Given the description of an element on the screen output the (x, y) to click on. 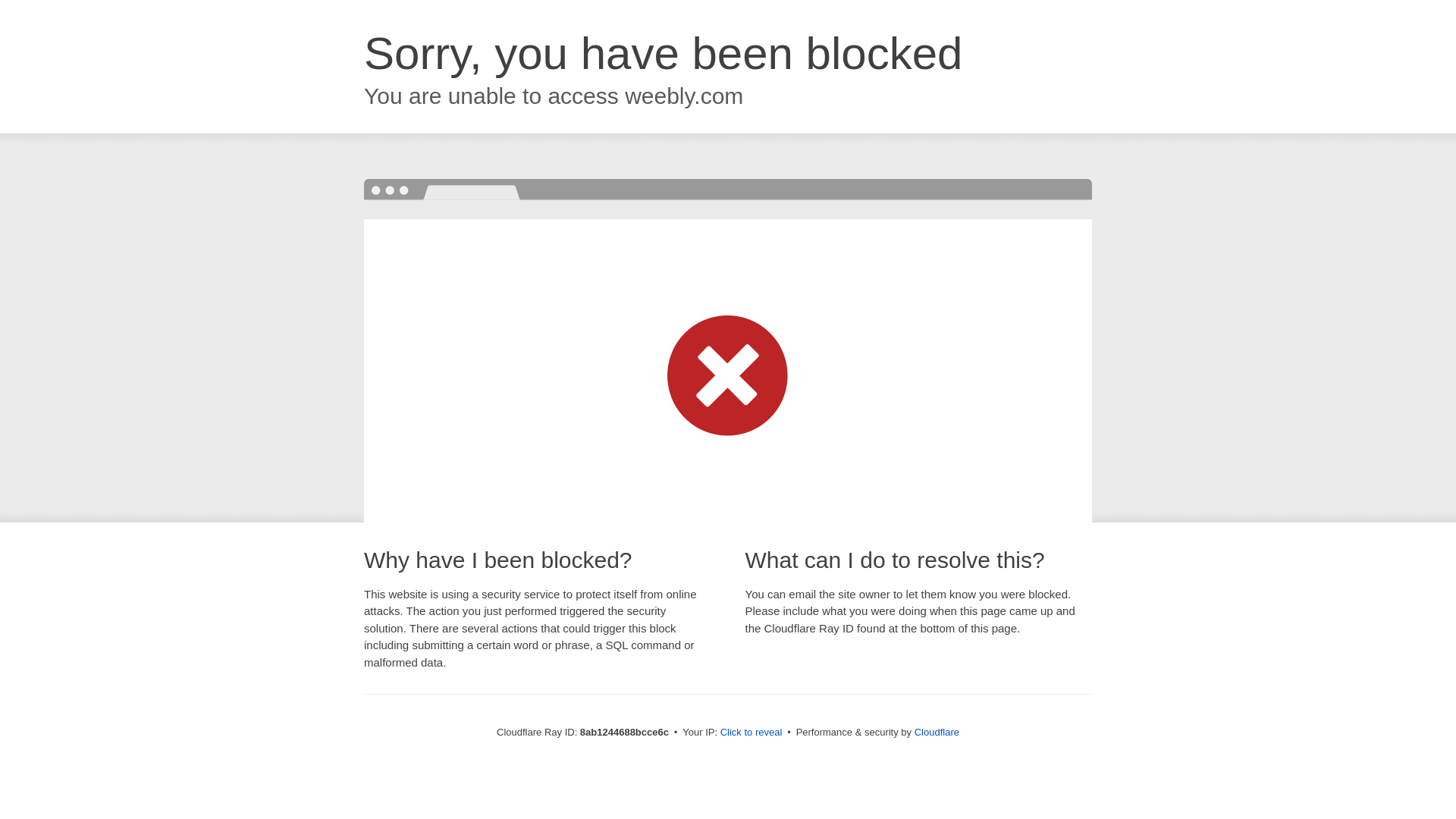
Cloudflare (936, 731)
Click to reveal (751, 732)
